Given the description of an element on the screen output the (x, y) to click on. 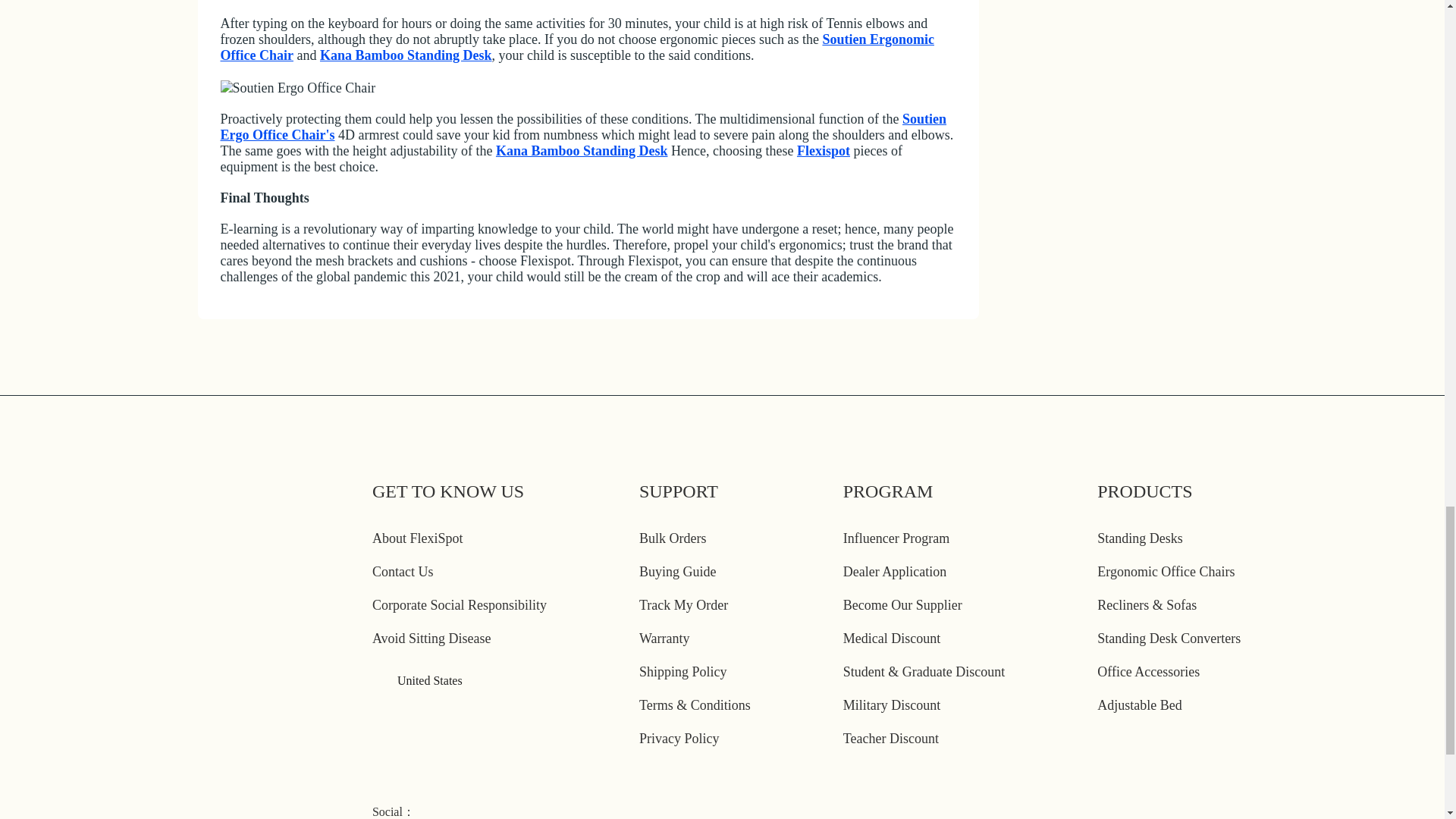
Soutien Ergo Office Chair (297, 88)
Soutien Ergo Office Chair's (582, 125)
Flexispot (823, 150)
About FlexiSpot (417, 538)
Kana Bamboo Standing Desk (582, 150)
Soutien Ergonomic Office Chair (576, 47)
Kana Bamboo Standing Desk (406, 55)
